Given the description of an element on the screen output the (x, y) to click on. 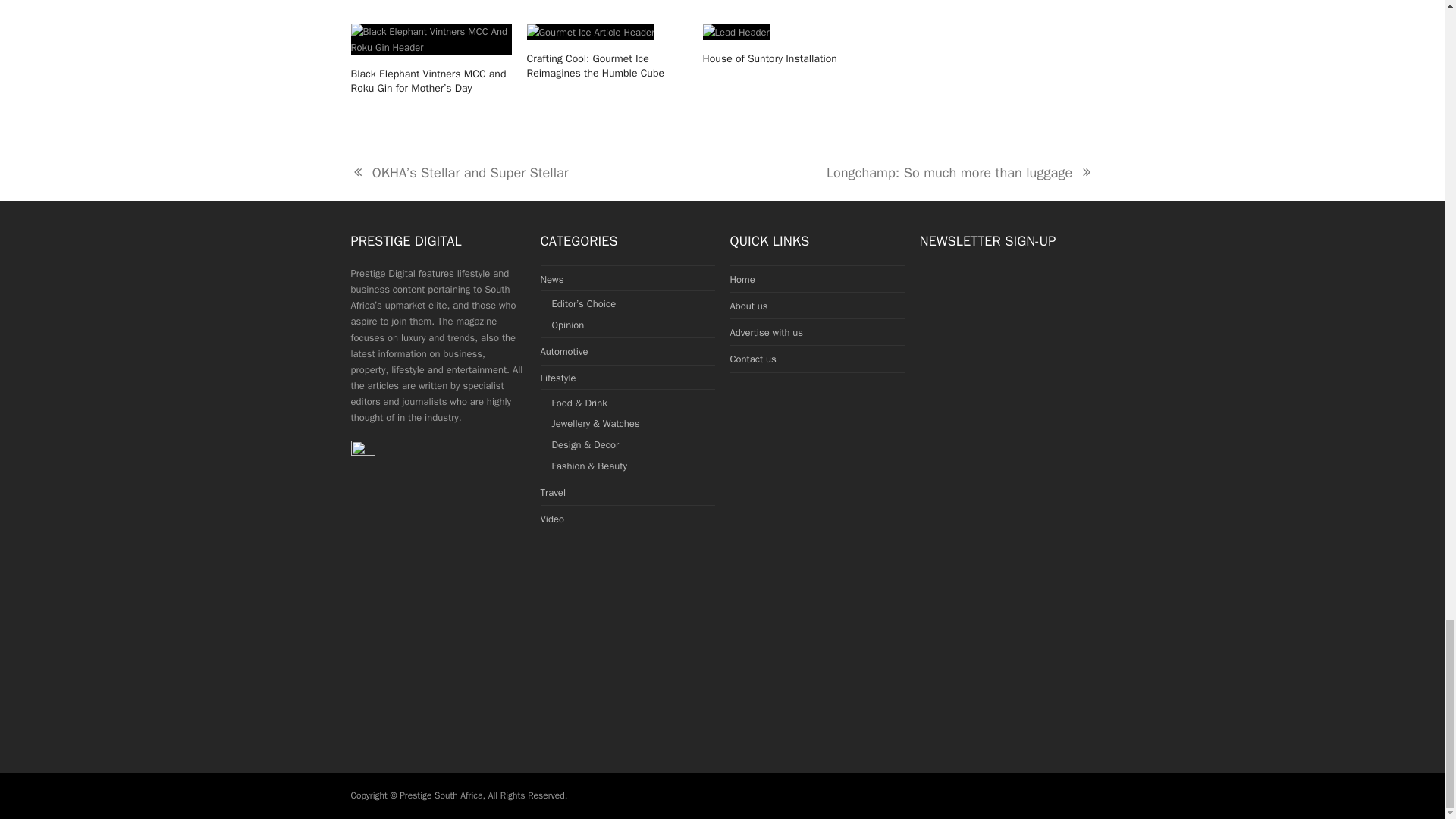
Lifestyle (960, 172)
Crafting Cool: Gourmet Ice Reimagines the Humble Cube (557, 377)
Opinion (595, 65)
House of Suntory Installation (568, 324)
Crafting Cool: Gourmet Ice Reimagines the Humble Cube (770, 58)
Automotive (591, 31)
News (564, 350)
House of Suntory Installation (551, 278)
